Given the description of an element on the screen output the (x, y) to click on. 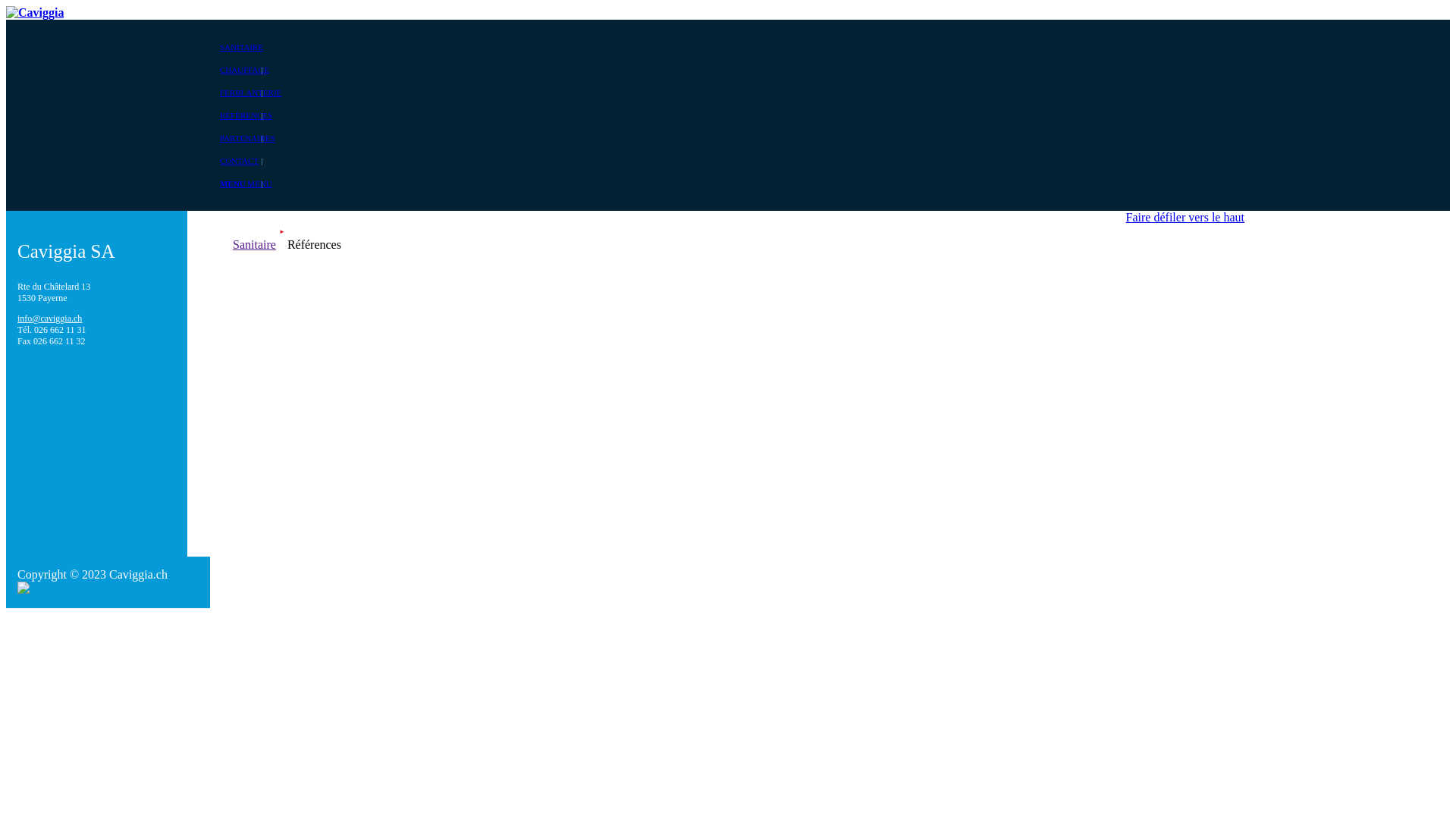
PARTENAIRES Element type: text (247, 137)
FERBLANTERIE Element type: text (250, 92)
CHAUFFAGE Element type: text (244, 69)
CONTACT Element type: text (238, 160)
info@caviggia.ch Element type: text (49, 318)
MENU MENU Element type: text (245, 183)
SANITAIRE Element type: text (241, 46)
Sanitaire Element type: text (254, 244)
